Given the description of an element on the screen output the (x, y) to click on. 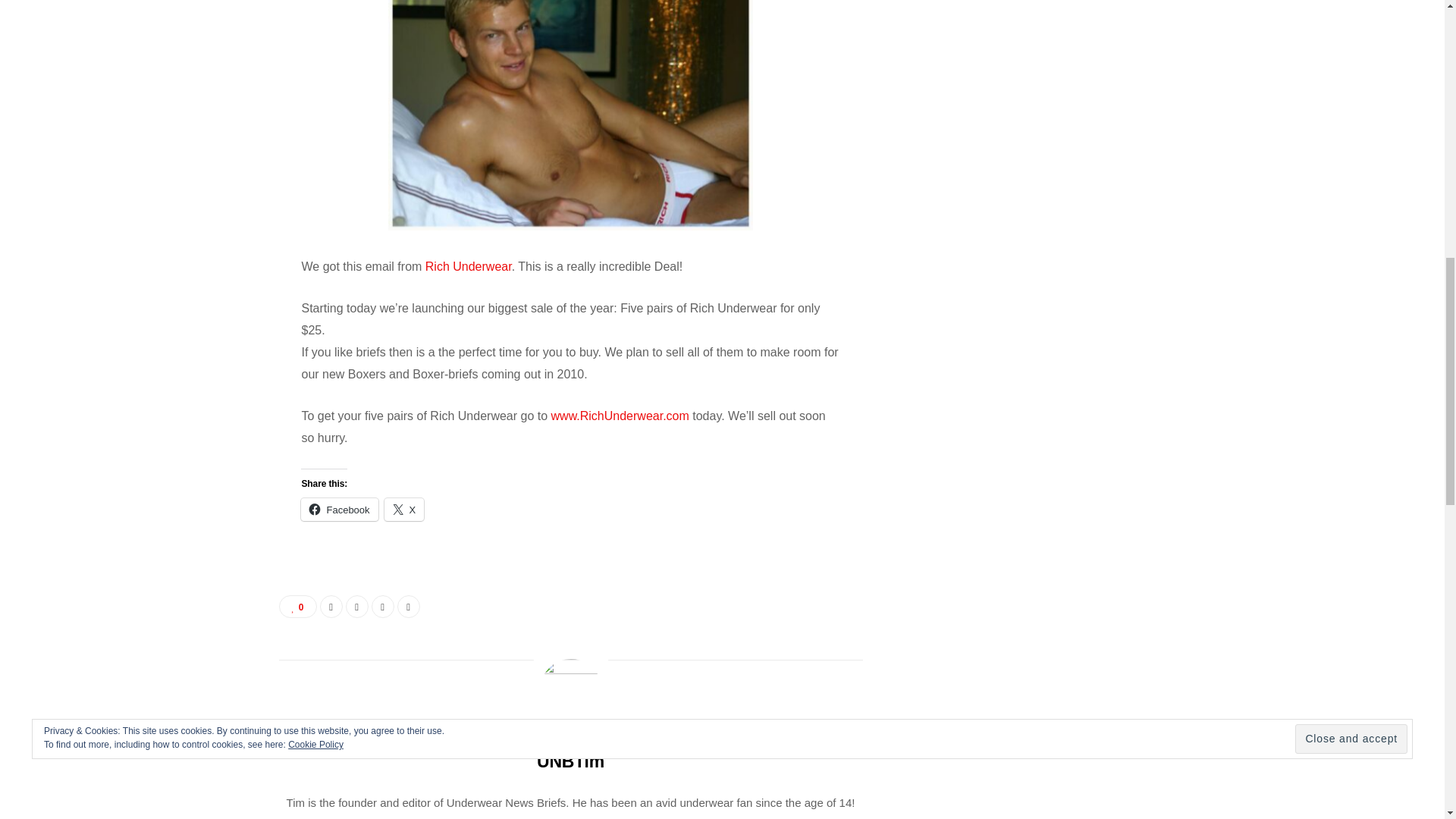
Share on Twitter (357, 606)
Click to share on Facebook (339, 508)
Posts by UNBTim (570, 761)
Click to share on X (404, 508)
Pinterest (382, 606)
Share on Facebook (331, 606)
Email (408, 606)
